Given the description of an element on the screen output the (x, y) to click on. 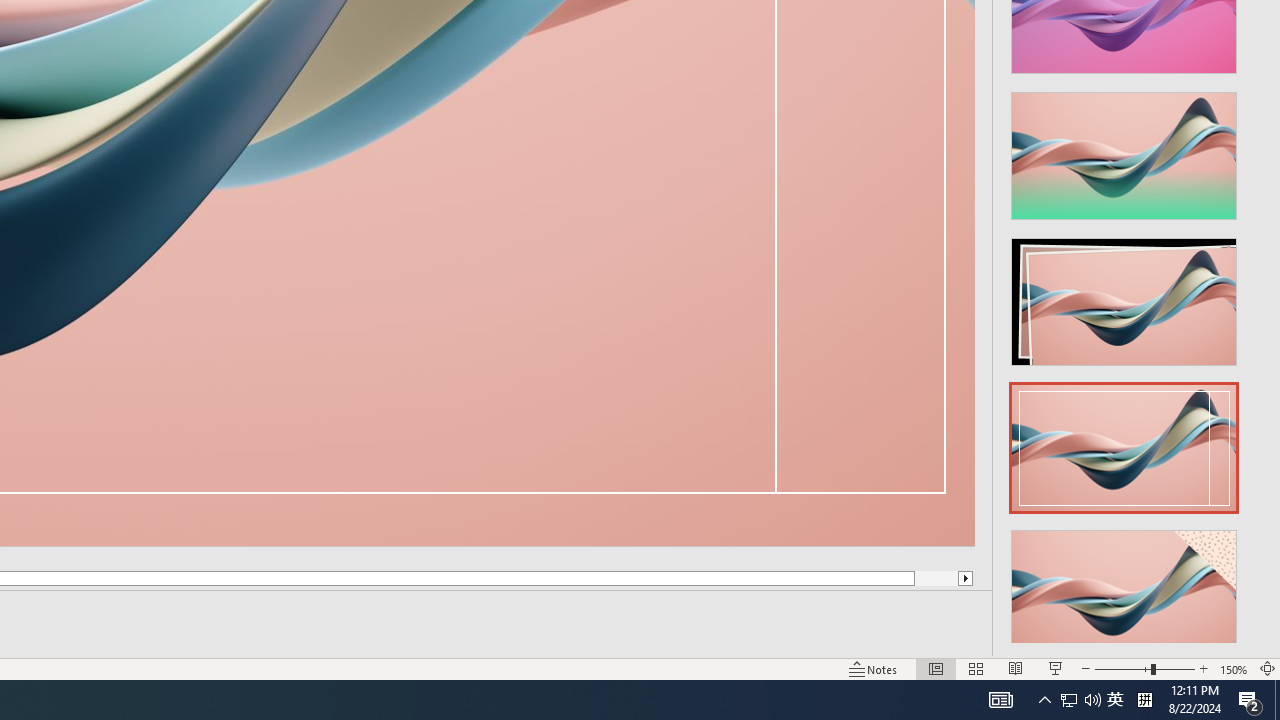
Zoom 150% (1234, 668)
